Given the description of an element on the screen output the (x, y) to click on. 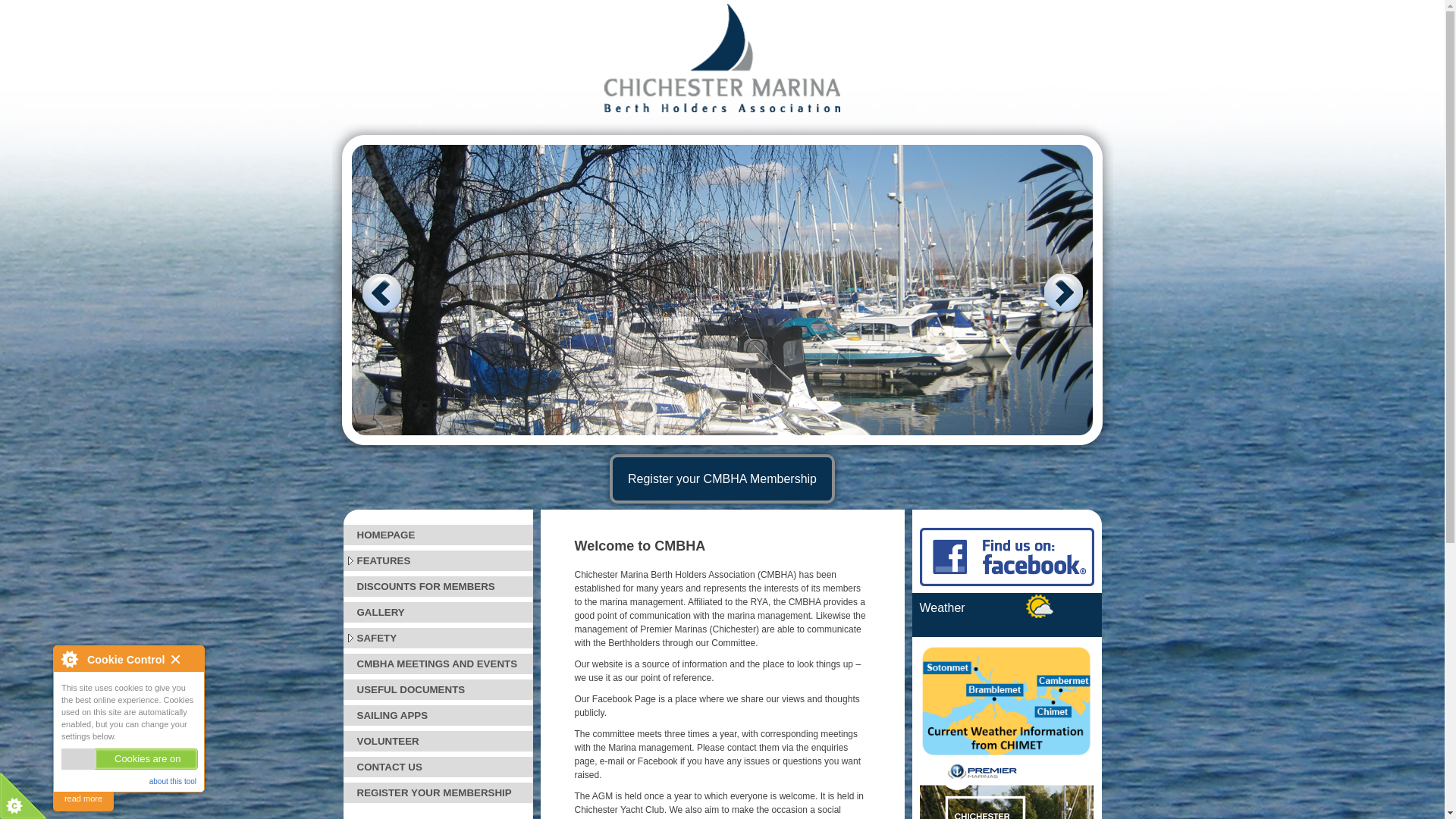
USEFUL DOCUMENTS (437, 689)
VOLUNTEER (437, 741)
GALLERY (437, 611)
Prev (381, 292)
About Cookie Control (68, 658)
Register your Membership (722, 478)
SAFETY (437, 638)
Close (183, 660)
Next (1062, 292)
About Cookie Control (68, 658)
